Given the description of an element on the screen output the (x, y) to click on. 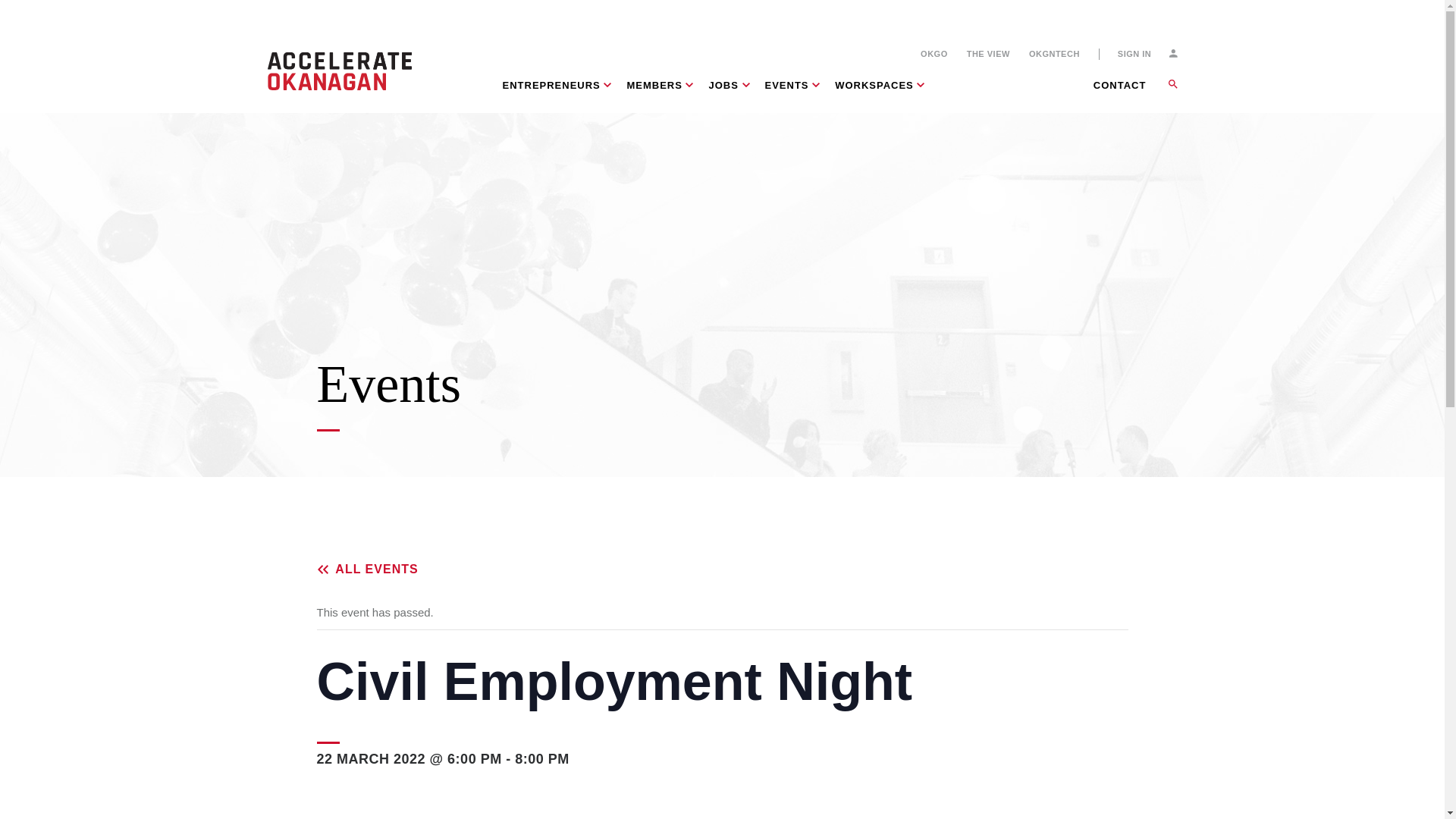
THE VIEW (988, 53)
SIGN IN (1147, 53)
JOBS (728, 96)
MEMBERS (659, 96)
ENTREPRENEURS (556, 96)
OKGO (933, 53)
EVENTS (792, 96)
OKGNTECH (1054, 53)
